Given the description of an element on the screen output the (x, y) to click on. 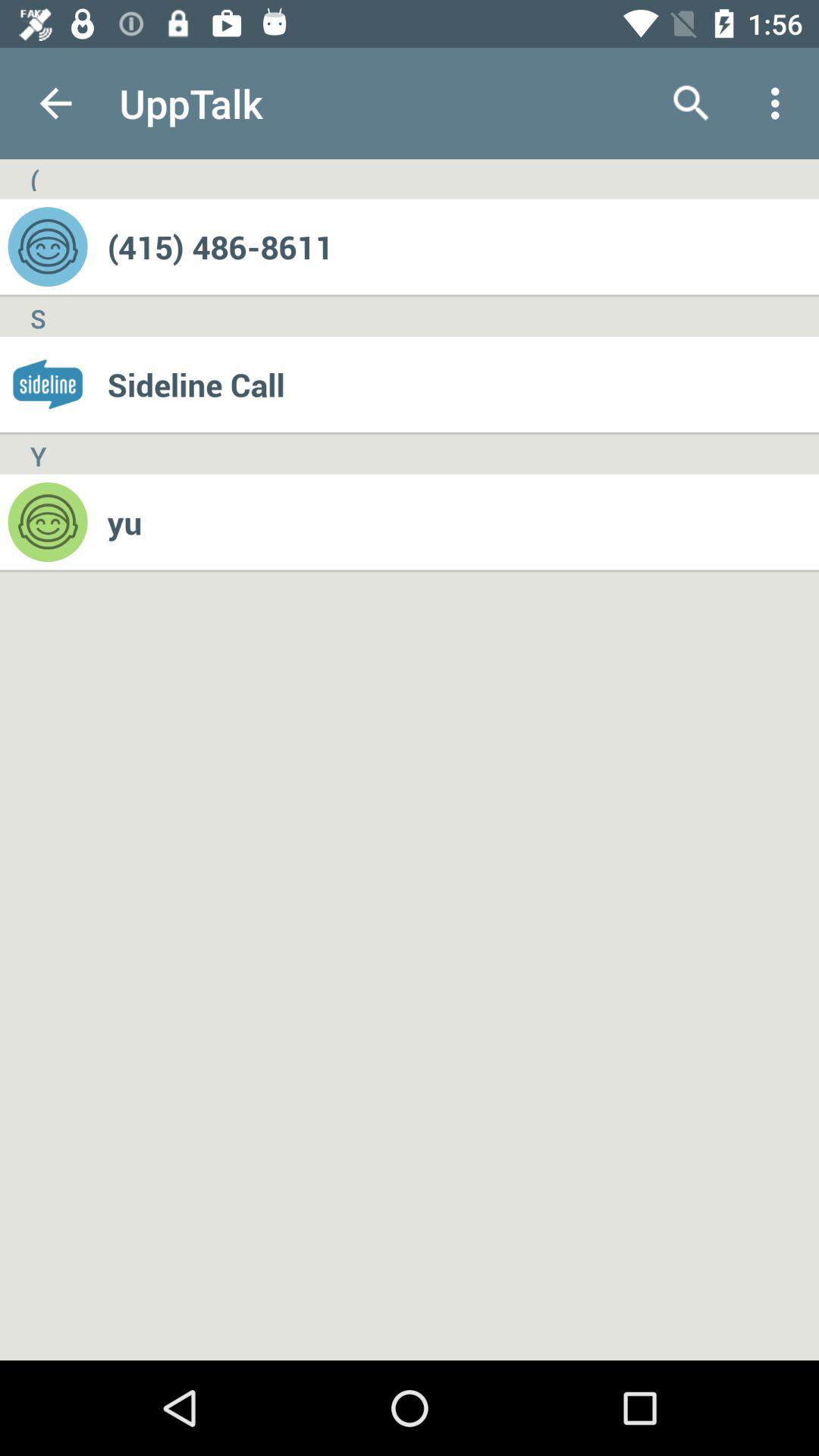
swipe until s (38, 316)
